Given the description of an element on the screen output the (x, y) to click on. 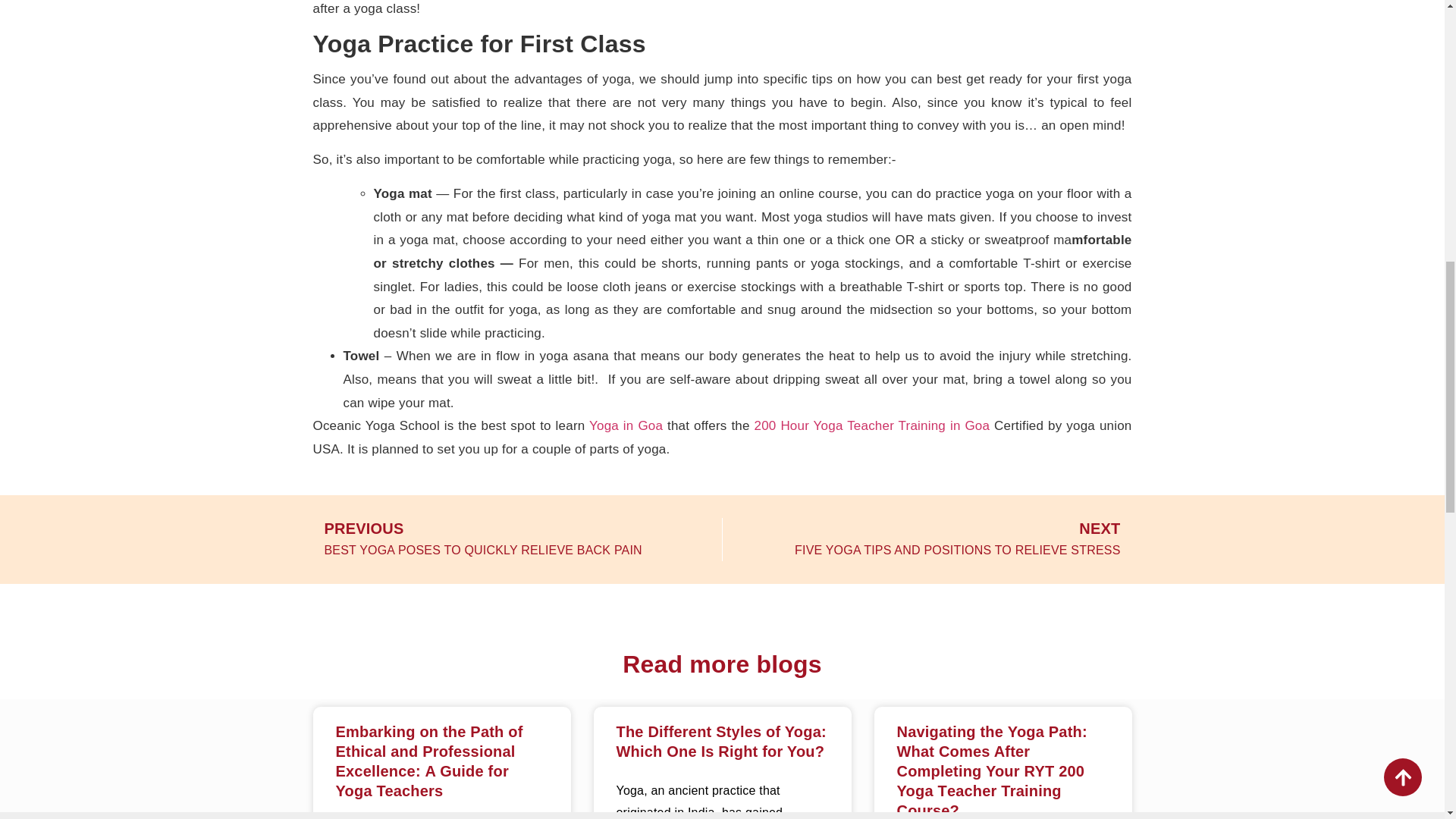
Yoga in Goa (625, 425)
200 Hour Yoga Teacher Training in Goa (872, 425)
